Given the description of an element on the screen output the (x, y) to click on. 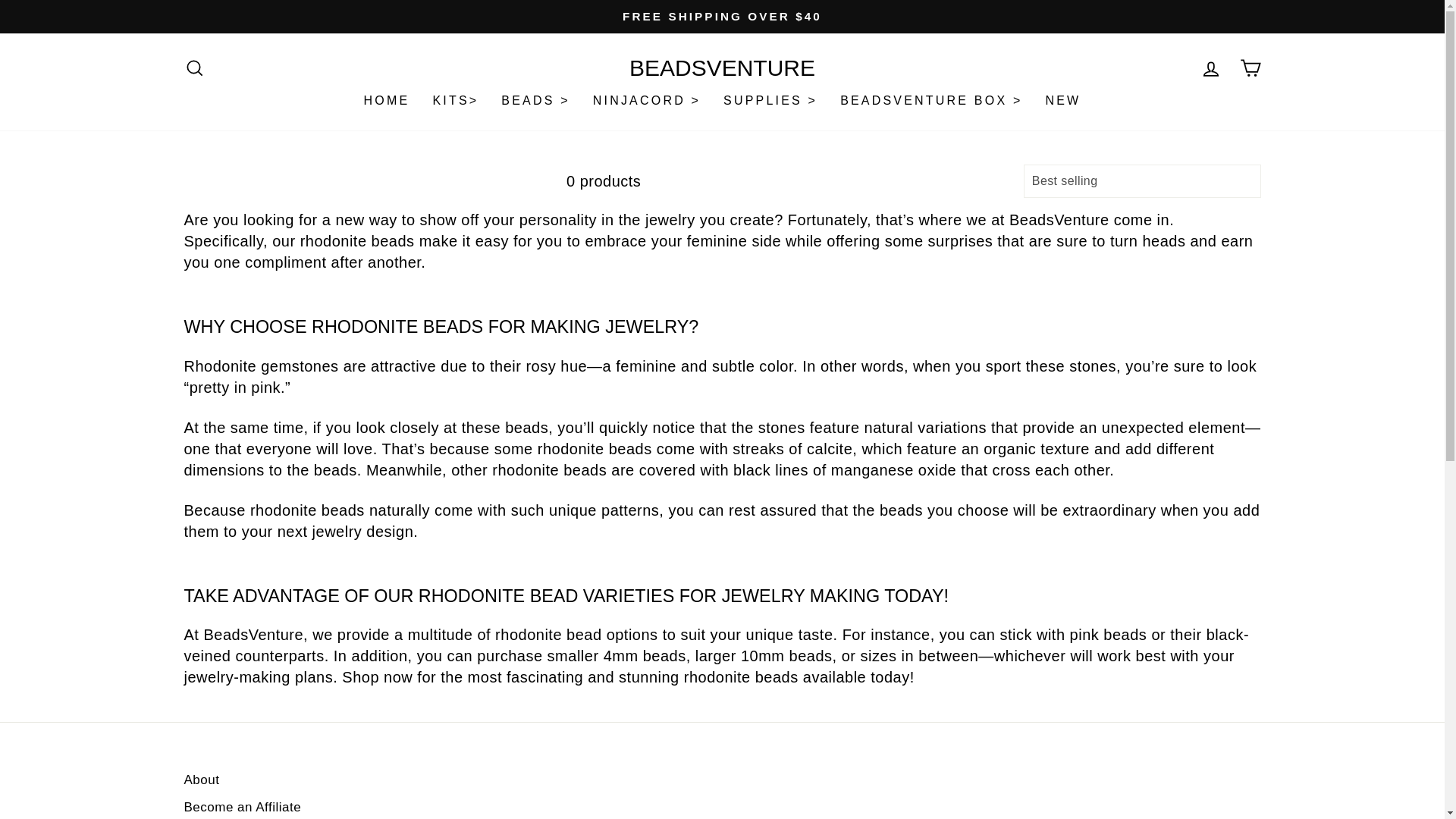
CART (1249, 67)
BEADSVENTURE (721, 67)
LOG IN (1210, 67)
HOME (387, 100)
SEARCH (194, 67)
